Given the description of an element on the screen output the (x, y) to click on. 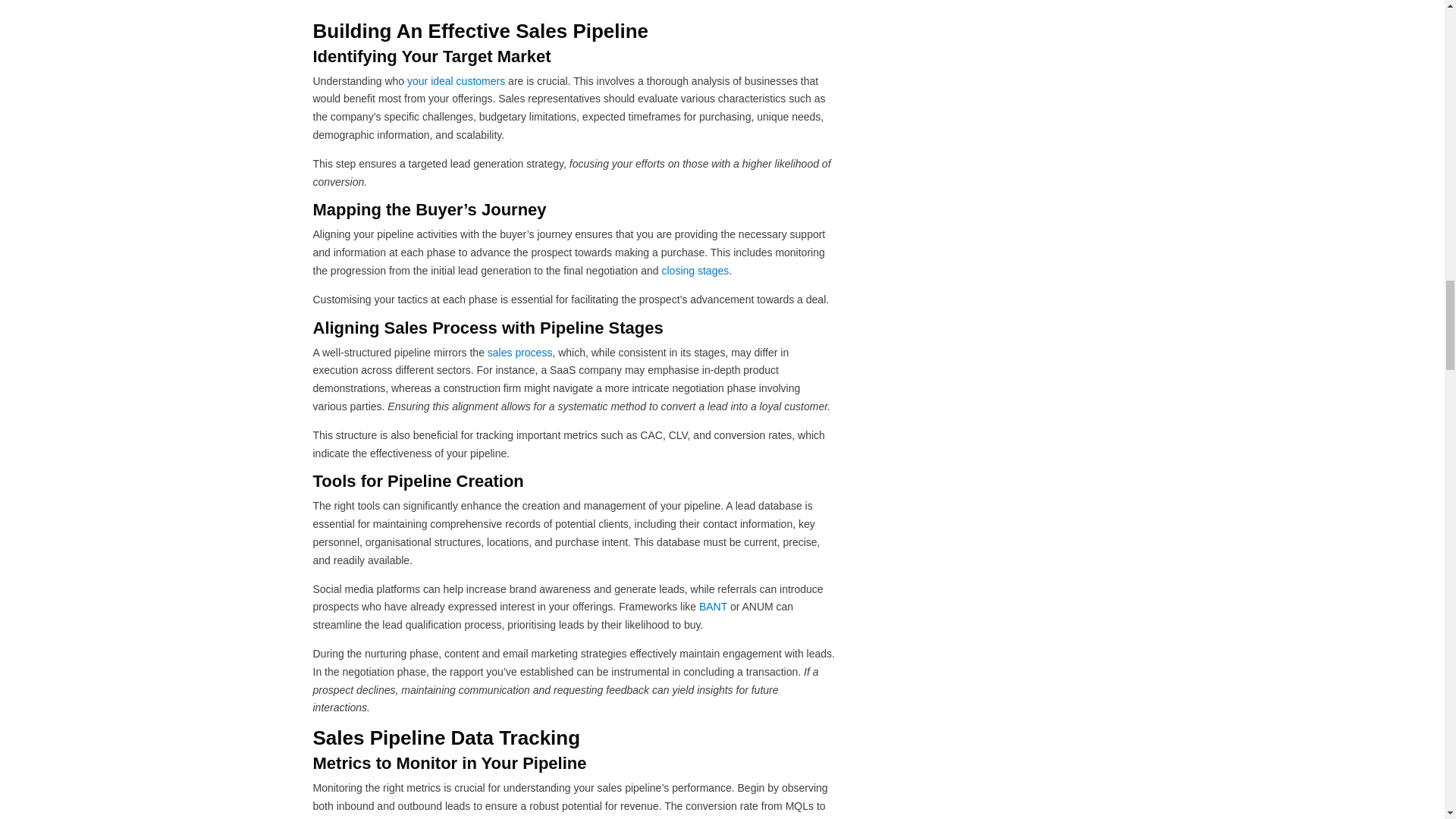
sales process (520, 352)
closing stages (695, 270)
your ideal customers (456, 80)
